Given the description of an element on the screen output the (x, y) to click on. 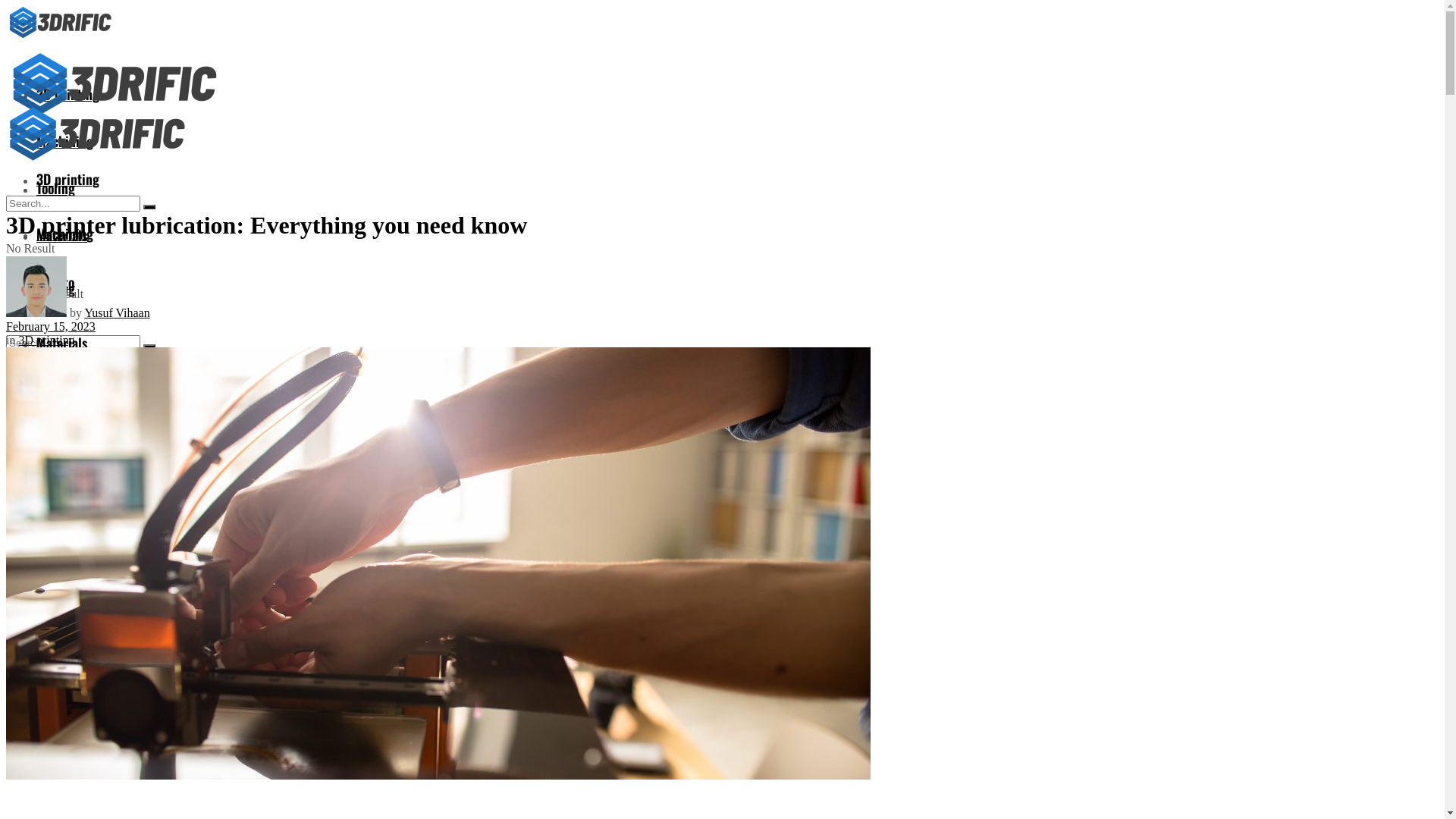
Tooling Element type: text (55, 288)
Tooling Element type: text (55, 187)
February 15, 2023 Element type: text (50, 326)
Materials Element type: text (61, 234)
How-to Element type: text (55, 397)
3D printing Element type: text (67, 93)
3D printing Element type: text (46, 339)
Materials Element type: text (61, 342)
Machining Element type: text (64, 233)
3D printing Element type: text (67, 178)
Yusuf Vihaan Element type: text (116, 312)
Machining Element type: text (64, 140)
How-to Element type: text (55, 281)
